Given the description of an element on the screen output the (x, y) to click on. 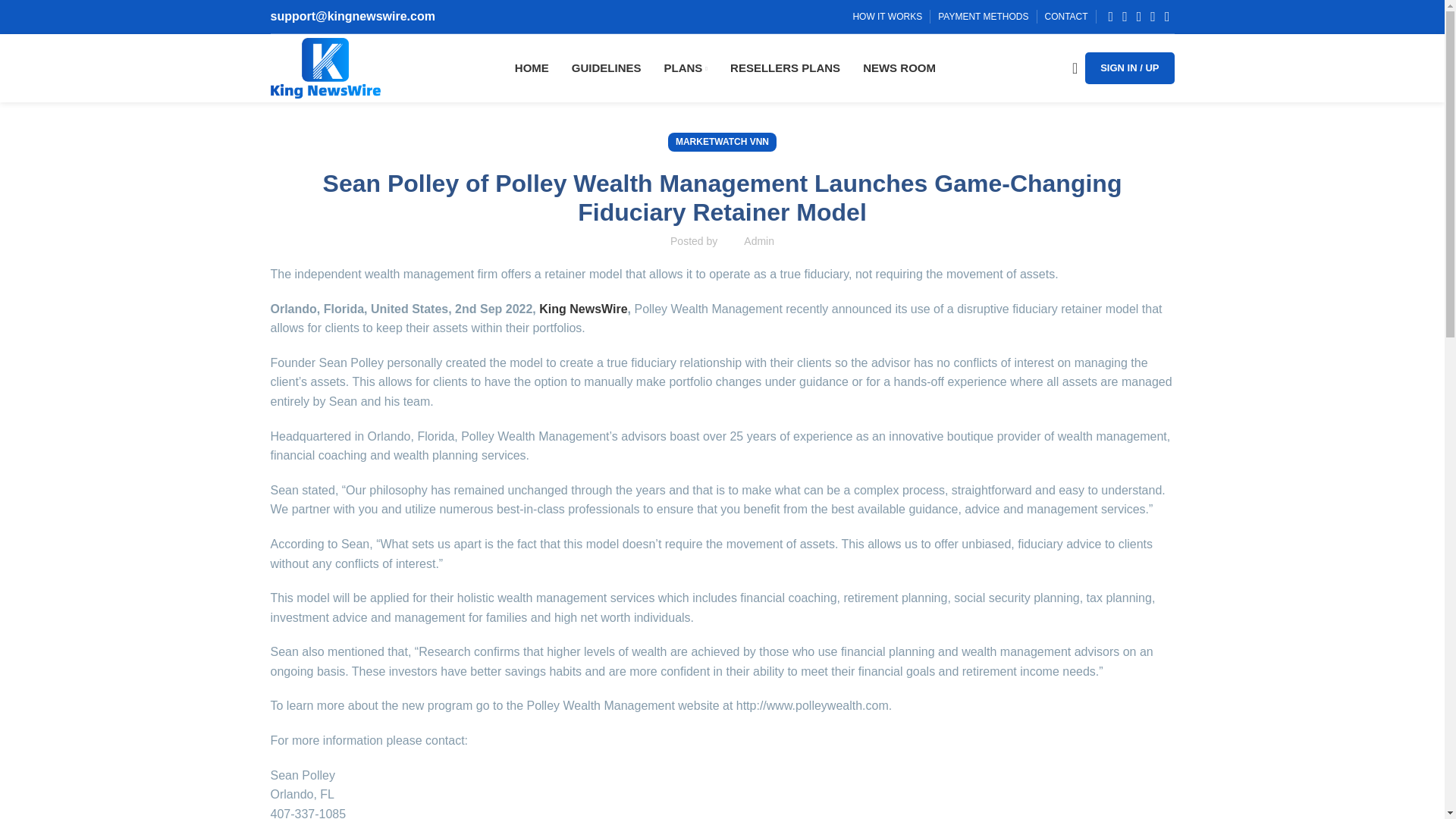
CONTACT (1066, 16)
Admin (759, 241)
PLANS (685, 68)
PAYMENT METHODS (982, 16)
NEWS ROOM (899, 68)
HOME (531, 68)
King NewsWire (582, 308)
RESELLERS PLANS (785, 68)
HOW IT WORKS (886, 16)
GUIDELINES (607, 68)
